Given the description of an element on the screen output the (x, y) to click on. 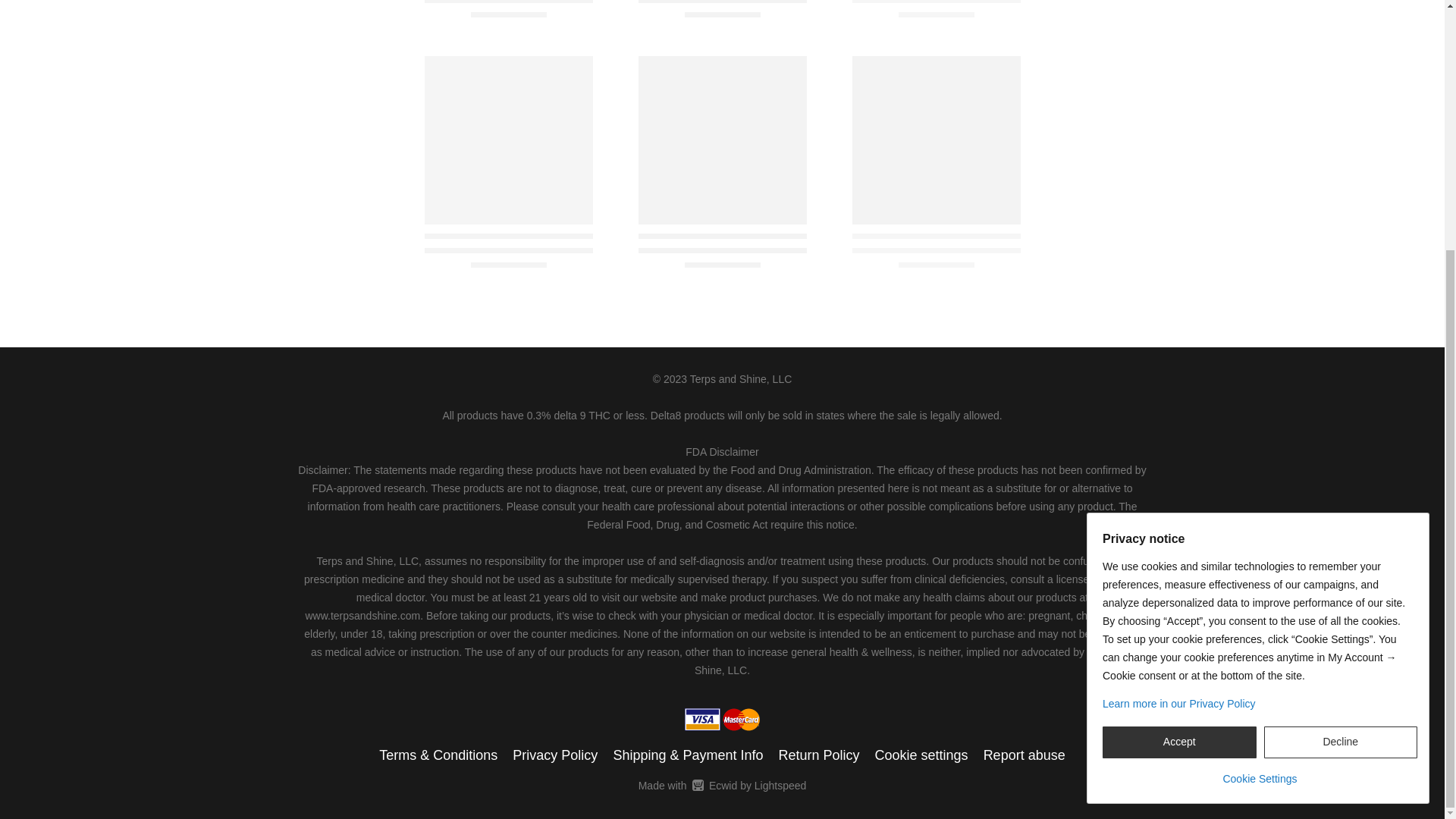
Decline (1339, 391)
Return Policy (818, 754)
Accept (1179, 391)
Privacy Policy (554, 754)
Report abuse (1024, 754)
Cookie settings (722, 785)
Cookie Settings (921, 754)
Learn more in our Privacy Policy (1259, 422)
